Given the description of an element on the screen output the (x, y) to click on. 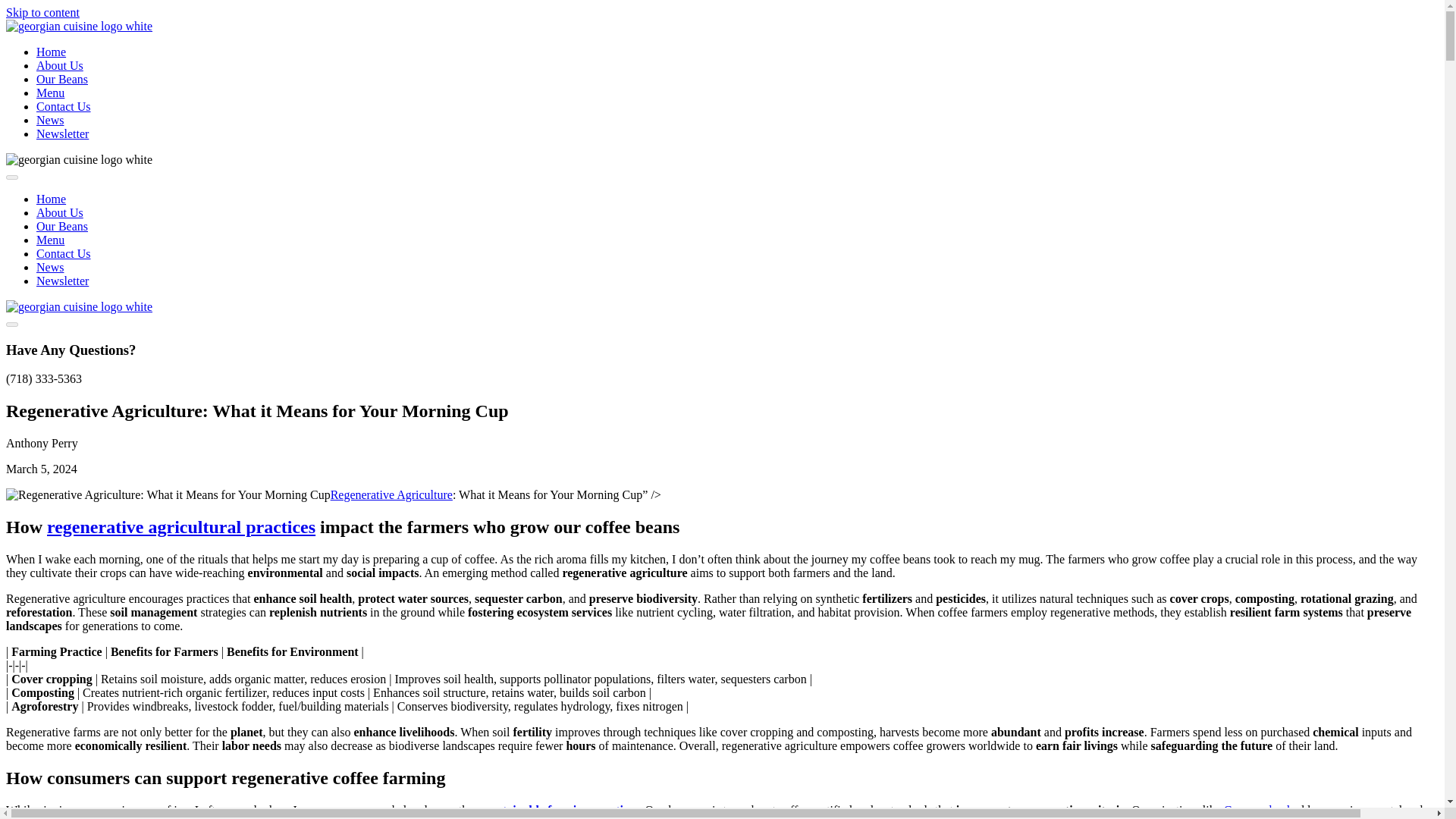
About Us (59, 212)
Menu (50, 239)
Our Beans (61, 78)
News (50, 267)
News (50, 119)
Our Beans (61, 226)
Commonland (1257, 809)
Newsletter (62, 133)
Regenerative Agriculture: What it Means for Your Morning Cup (167, 495)
Menu (50, 92)
Contact Us (63, 106)
Newsletter (62, 280)
regenerative agricultural practices (180, 526)
Home (50, 51)
Skip to content (42, 11)
